Given the description of an element on the screen output the (x, y) to click on. 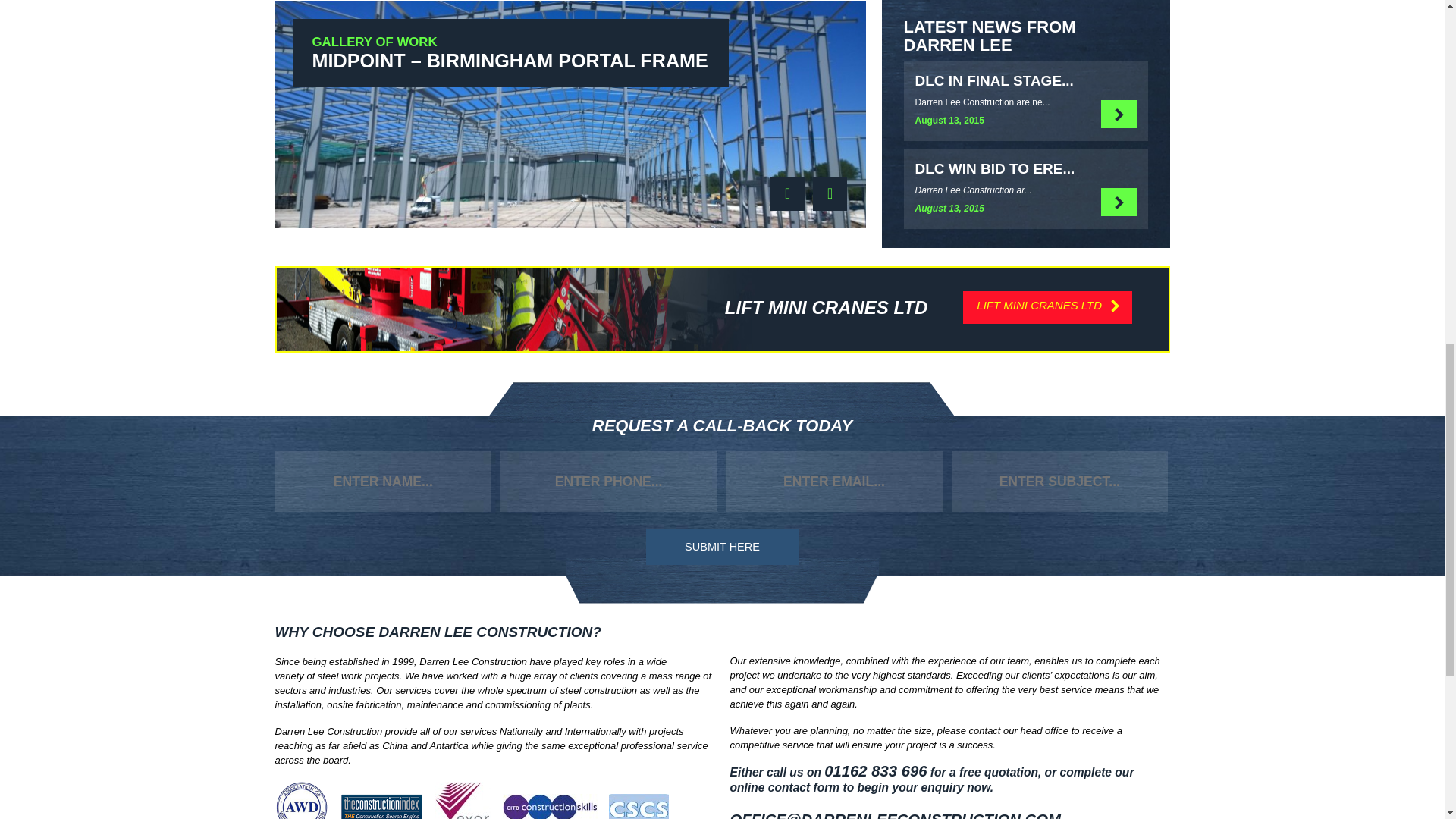
Next (829, 193)
Submit here (721, 547)
Previous (787, 193)
